Given the description of an element on the screen output the (x, y) to click on. 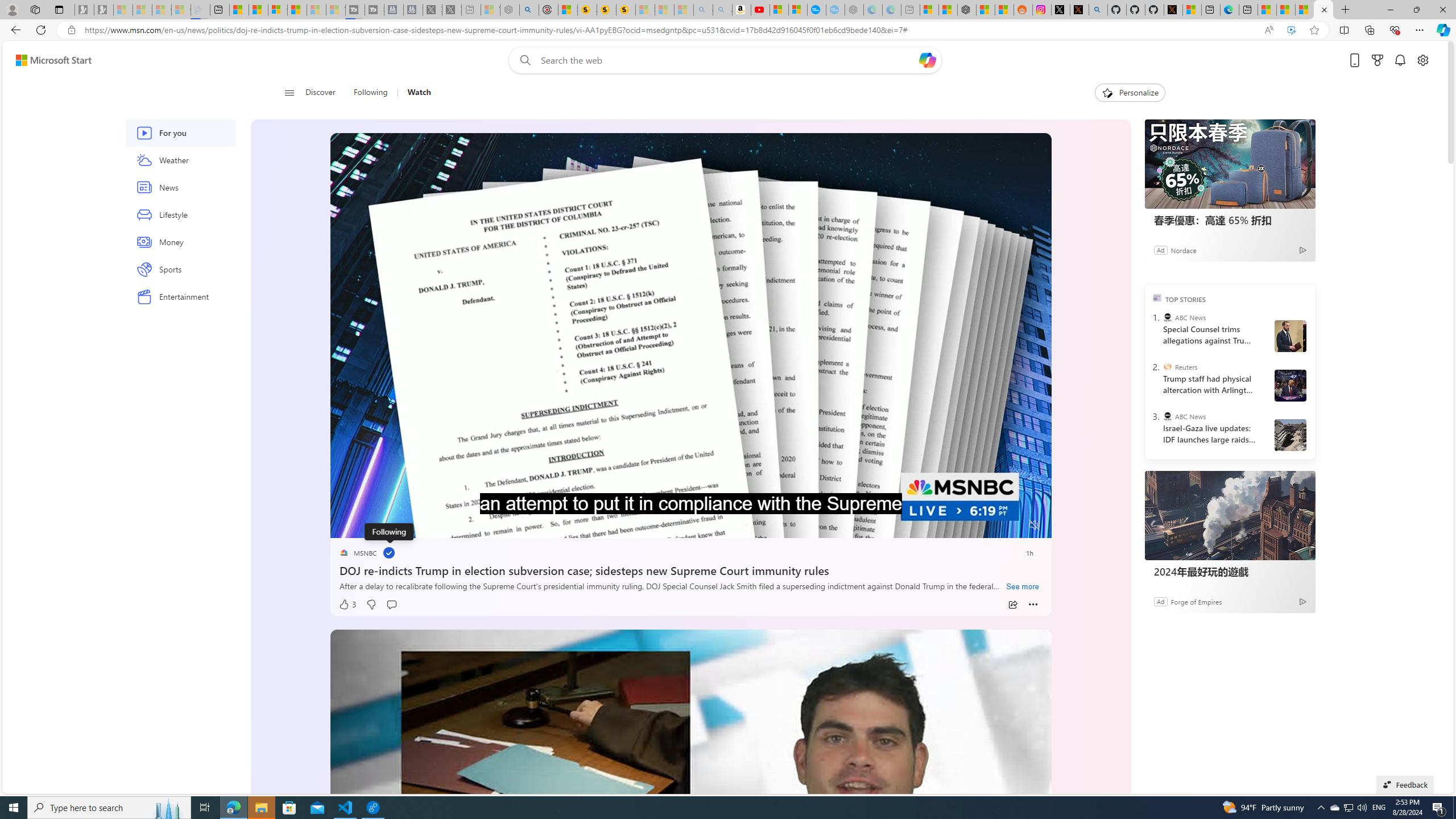
Amazon Echo Dot PNG - Search Images - Sleeping (721, 9)
amazon - Search - Sleeping (702, 9)
Day 1: Arriving in Yemen (surreal to be here) - YouTube (759, 9)
Pause (347, 525)
Skip to footer (46, 59)
poe - Search (529, 9)
